Given the description of an element on the screen output the (x, y) to click on. 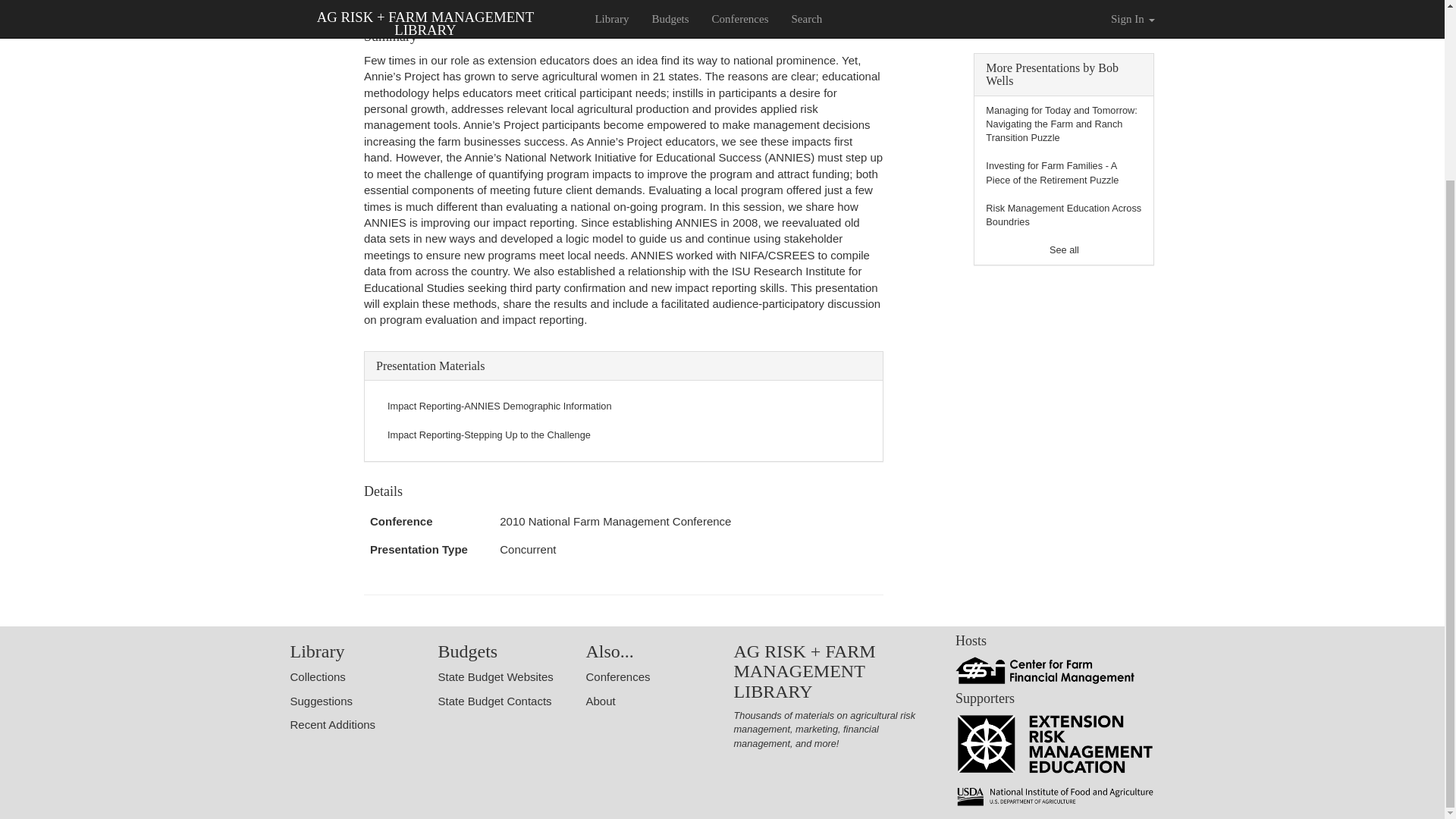
Budgets (467, 650)
Recent Additions (332, 724)
See all (1063, 249)
State Budget Websites (495, 676)
Library (316, 650)
Suggestions (320, 700)
BOB WELLS (398, 14)
Collections (317, 676)
About (599, 700)
2010 National Farm Management Conference (614, 521)
Concurrent (527, 549)
Conferences (617, 676)
Impact Reporting-Stepping Up to the Challenge (489, 434)
